Given the description of an element on the screen output the (x, y) to click on. 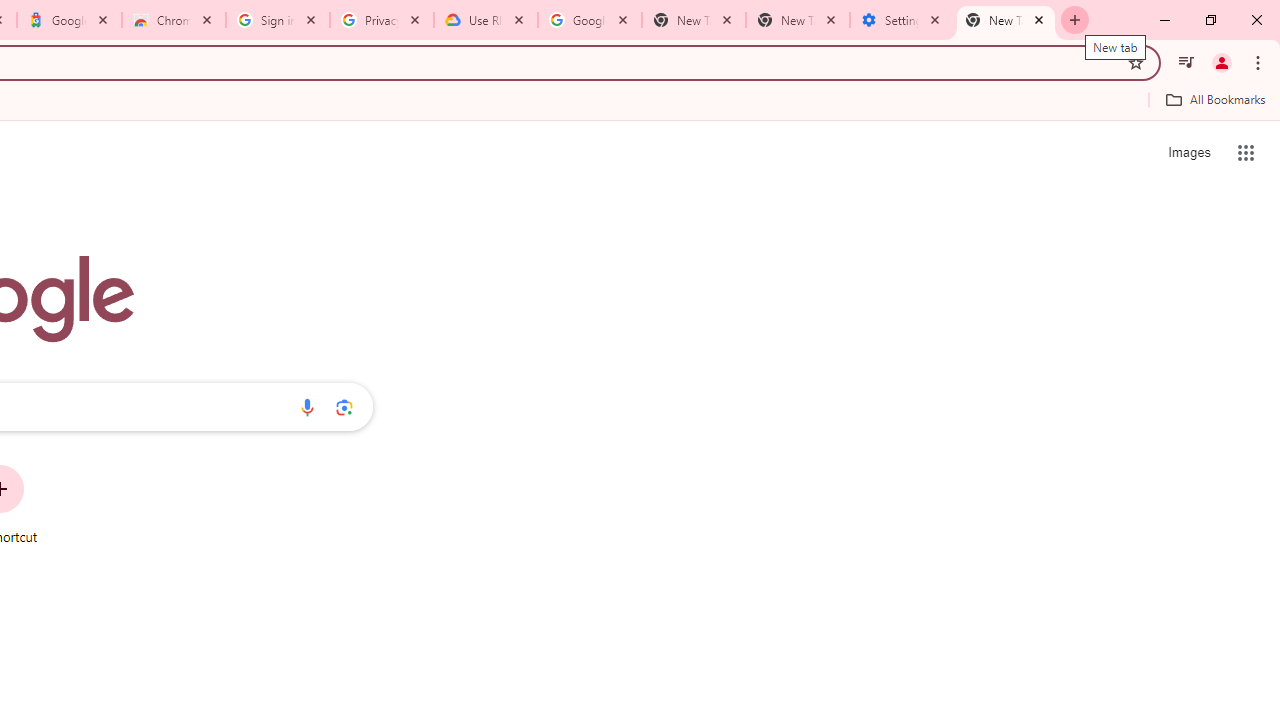
New Tab (797, 20)
New Tab (1005, 20)
Chrome Web Store - Color themes by Chrome (173, 20)
Google (68, 20)
